Given the description of an element on the screen output the (x, y) to click on. 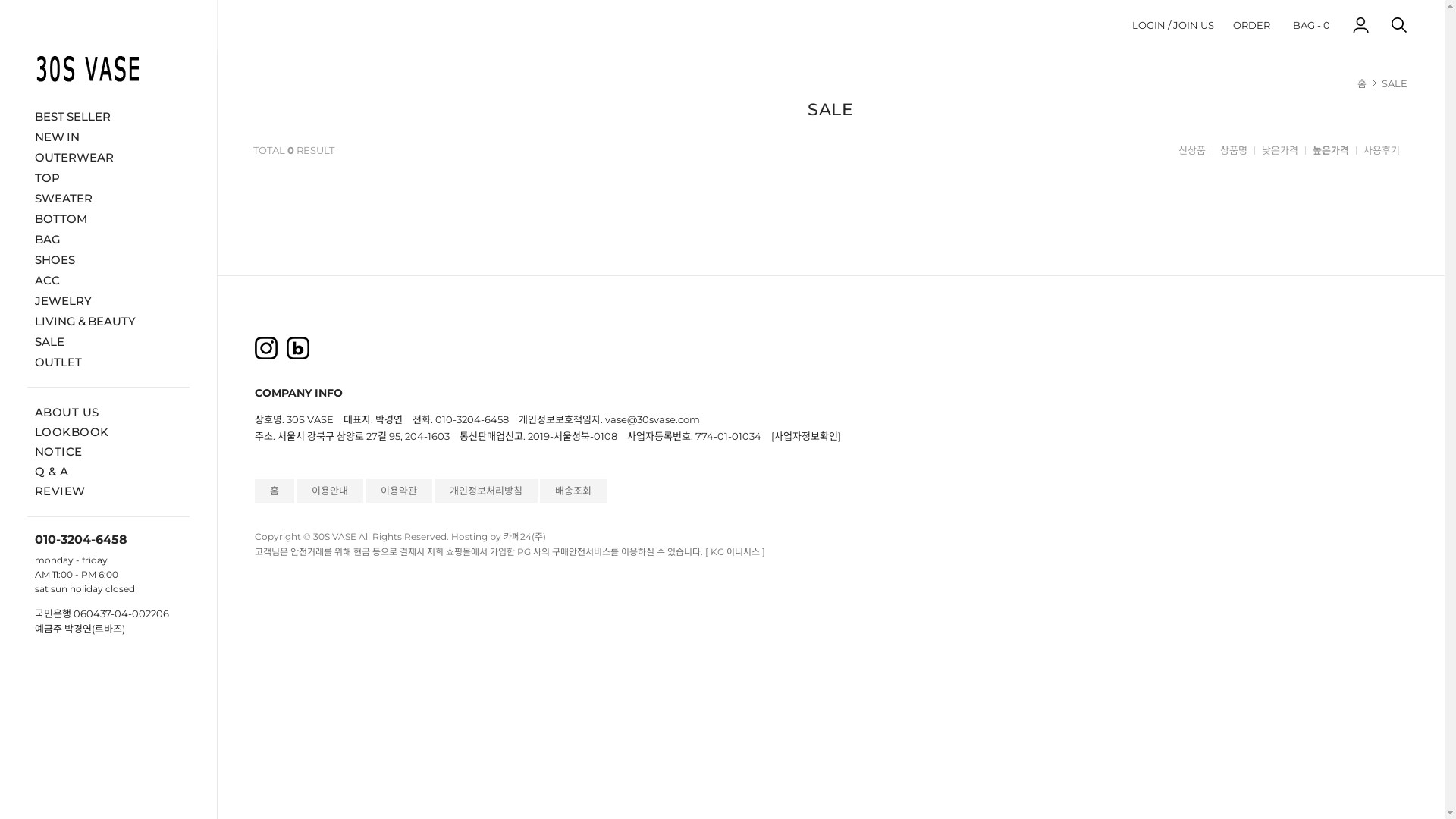
LOGIN Element type: text (1148, 24)
BOTTOM Element type: text (108, 217)
NEW IN Element type: text (108, 135)
ORDER Element type: text (1251, 24)
BAG - 0 Element type: text (1311, 24)
BAG Element type: text (108, 238)
SALE Element type: text (108, 340)
OUTERWEAR Element type: text (108, 156)
SHOES Element type: text (108, 258)
TOP Element type: text (108, 176)
Q & A Element type: text (51, 471)
JEWELRY Element type: text (108, 299)
NOTICE Element type: text (58, 451)
ABOUT US Element type: text (66, 411)
REVIEW Element type: text (59, 490)
ACC Element type: text (108, 279)
SWEATER Element type: text (108, 197)
LIVING & BEAUTY Element type: text (108, 320)
SALE Element type: text (1394, 83)
LOOKBOOK Element type: text (71, 431)
OUTLET Element type: text (108, 361)
 /  Element type: text (1169, 24)
BEST SELLER Element type: text (108, 115)
JOIN US Element type: text (1193, 24)
